Given the description of an element on the screen output the (x, y) to click on. 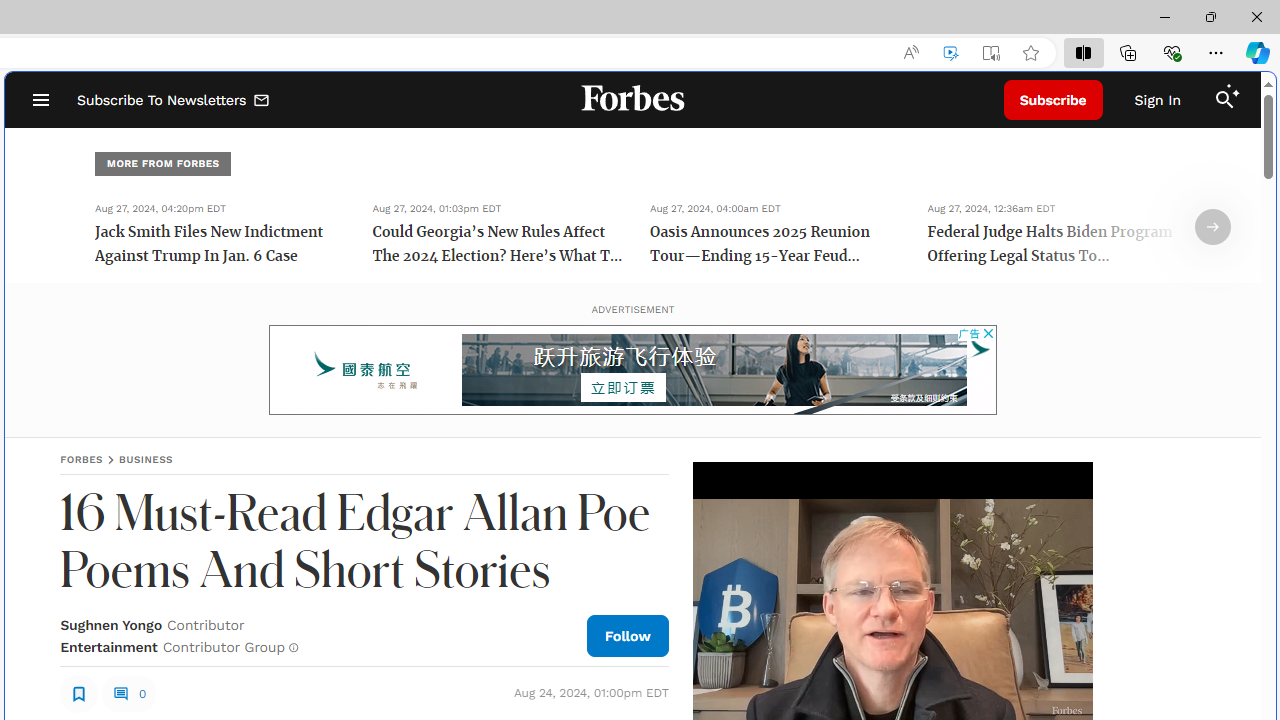
Read aloud this page (Ctrl+Shift+U) (910, 53)
Enhance video (950, 53)
Subscribe To Newsletters (173, 99)
Class: fs-icon fs-icon--info (293, 647)
Arrow Right (1213, 227)
Entertainment (108, 646)
Add this page to favorites (Ctrl+D) (1030, 53)
Class: search_svg__fs-icon search_svg__fs-icon--search (1224, 99)
Browser essentials (1171, 52)
FORBES (81, 459)
Copilot (Ctrl+Shift+.) (1258, 52)
0 (128, 693)
